Given the description of an element on the screen output the (x, y) to click on. 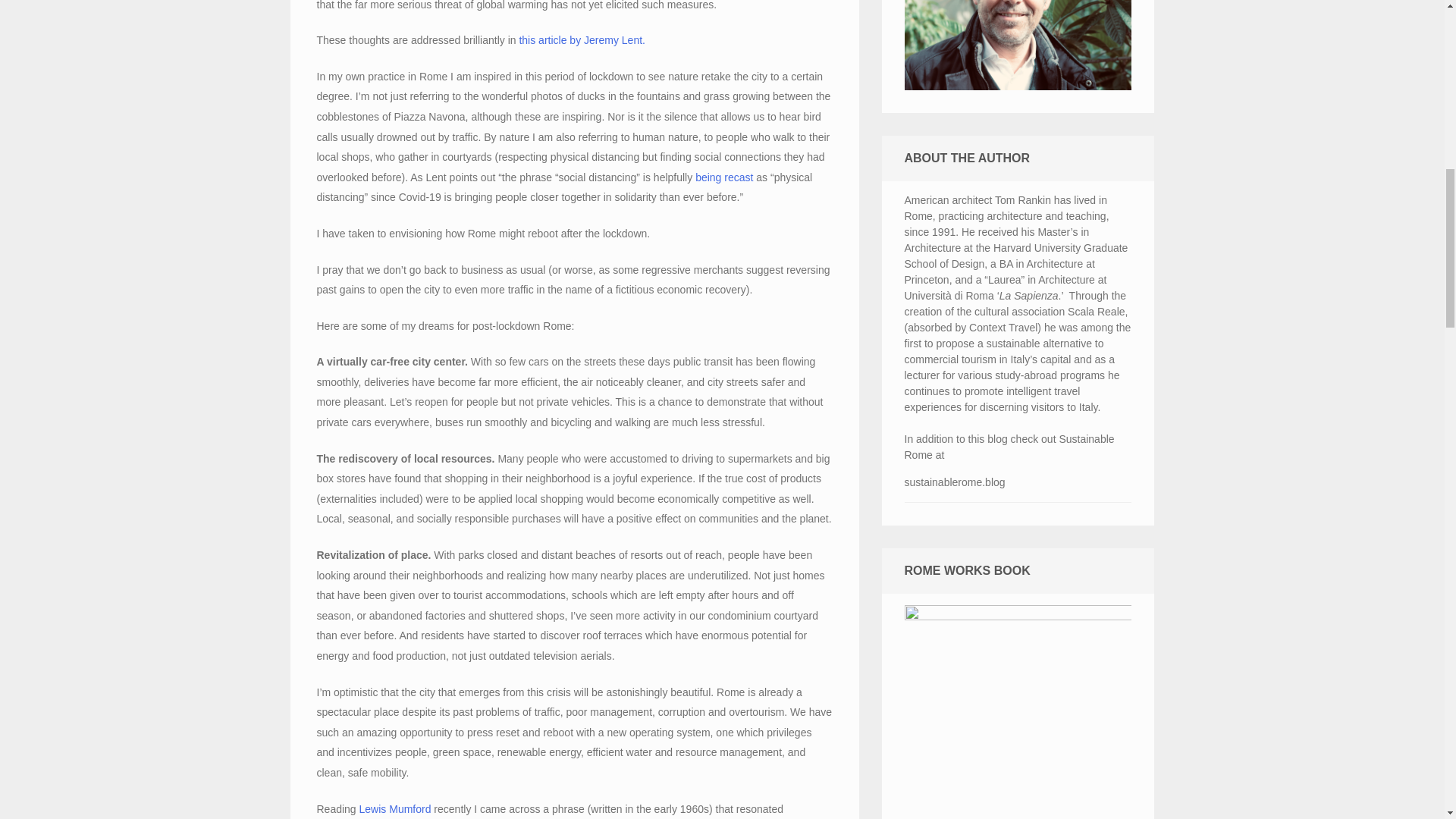
Lewis Mumford (394, 808)
being recast (723, 177)
this article by Jeremy Lent. (580, 39)
